Given the description of an element on the screen output the (x, y) to click on. 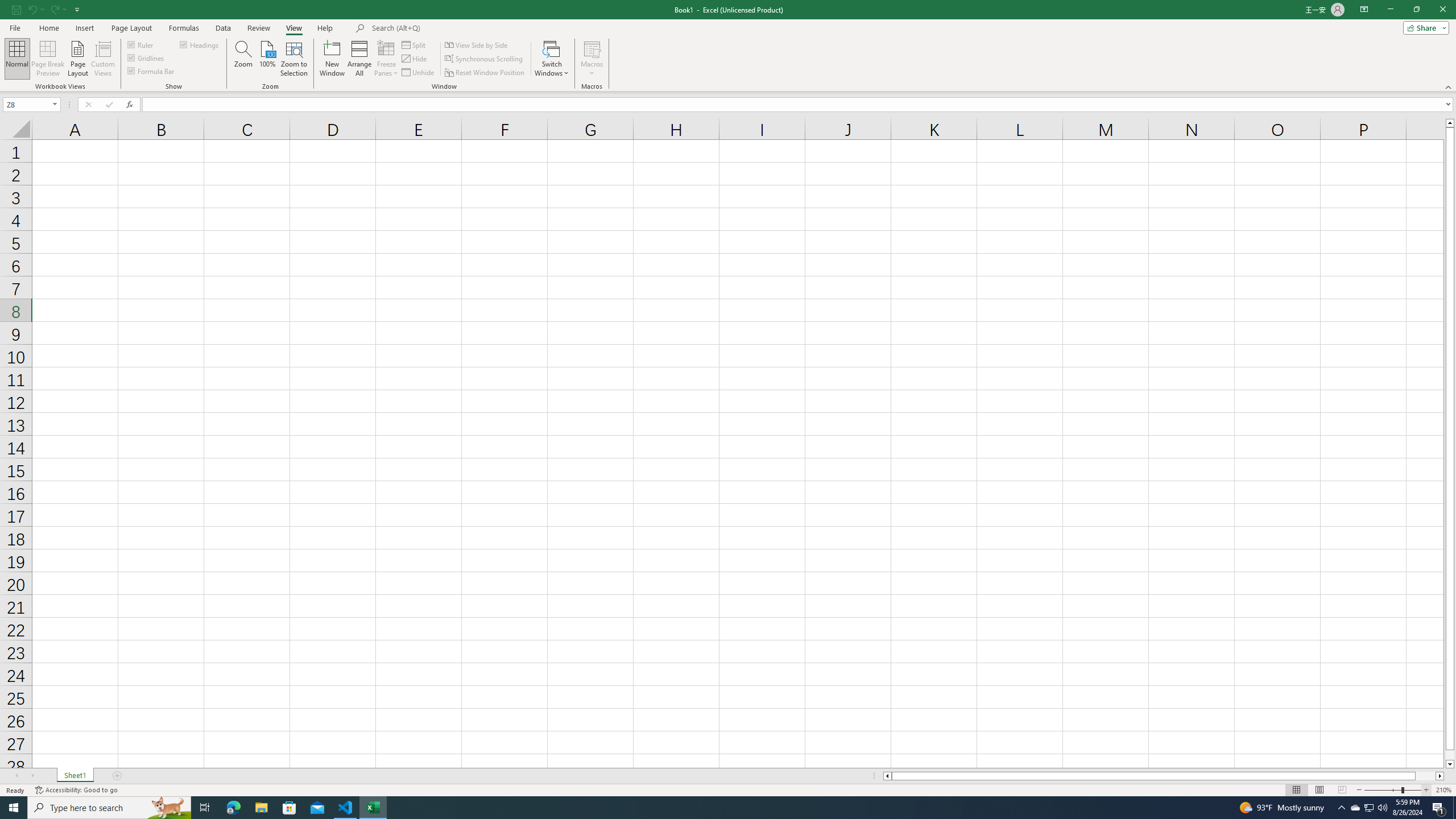
Split (414, 44)
Hide (415, 58)
View Macros (591, 48)
